Given the description of an element on the screen output the (x, y) to click on. 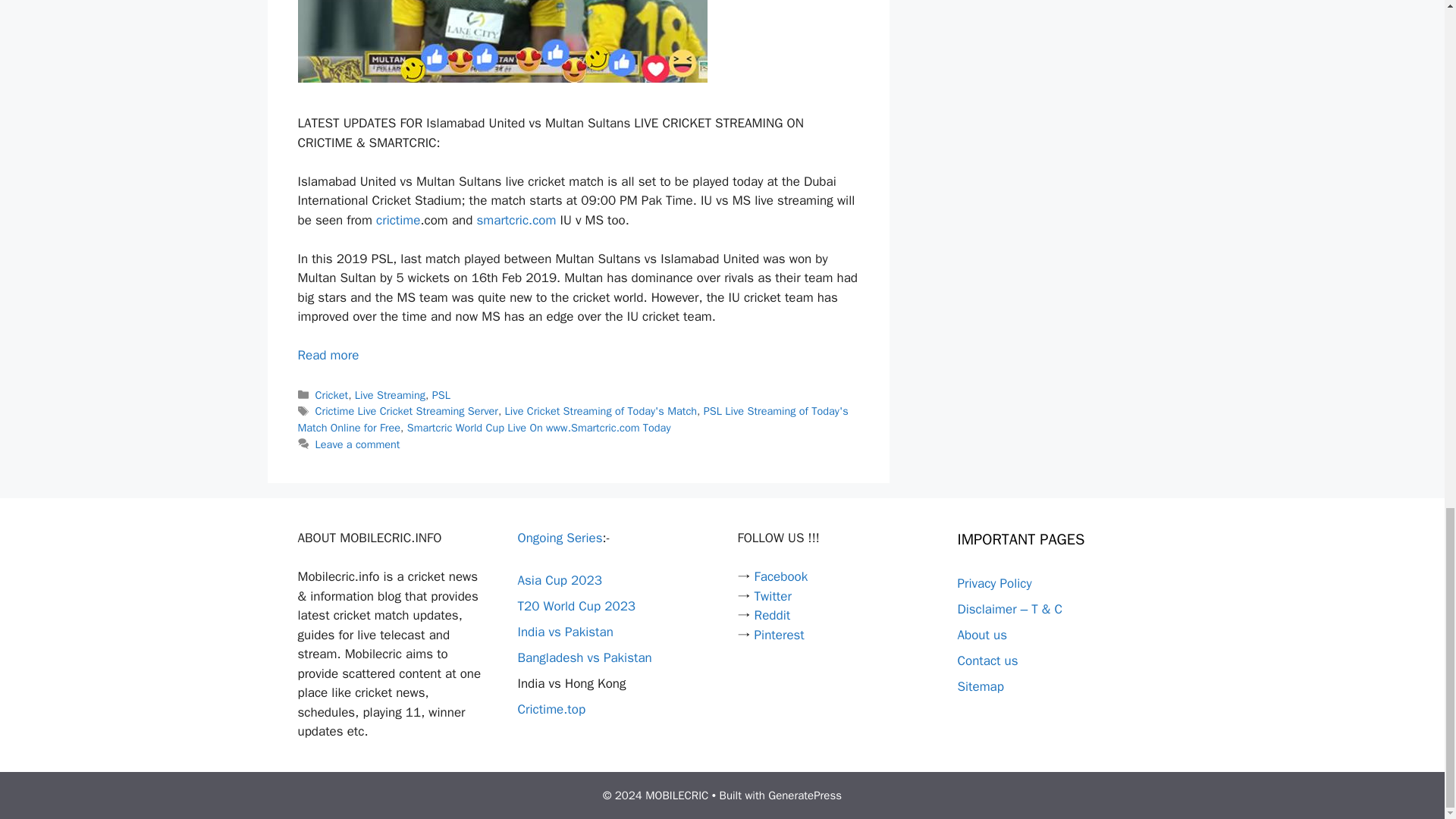
Read more (327, 355)
Live Cricket Streaming of Today's Match (601, 410)
Crictime Live Cricket Streaming Server (406, 410)
Smartcric World Cup Live On www.Smartcric.com Today (539, 427)
PSL Live Streaming of Today's Match Online for Free (572, 419)
crictime (397, 220)
Leave a comment (357, 444)
PSL (440, 395)
smartcric.com (516, 220)
Live Streaming (390, 395)
Cricket (332, 395)
